Given the description of an element on the screen output the (x, y) to click on. 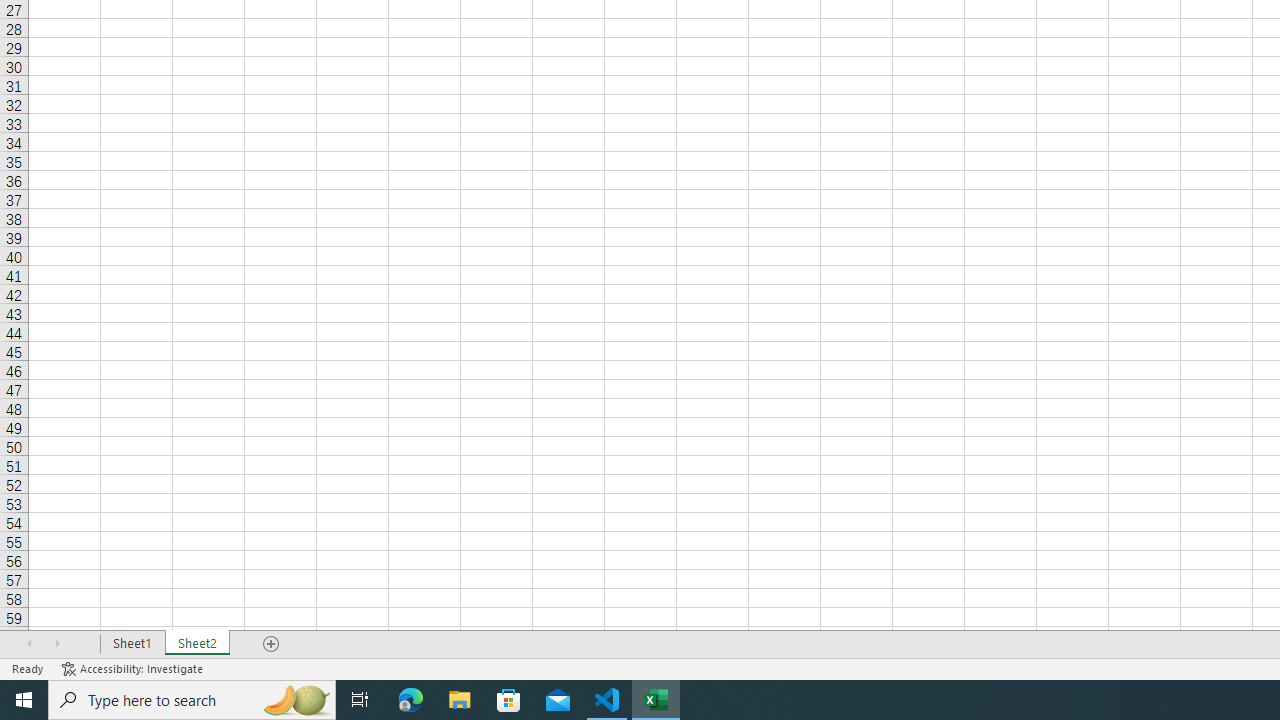
Sheet2 (197, 644)
Accessibility Checker Accessibility: Investigate (134, 668)
